Given the description of an element on the screen output the (x, y) to click on. 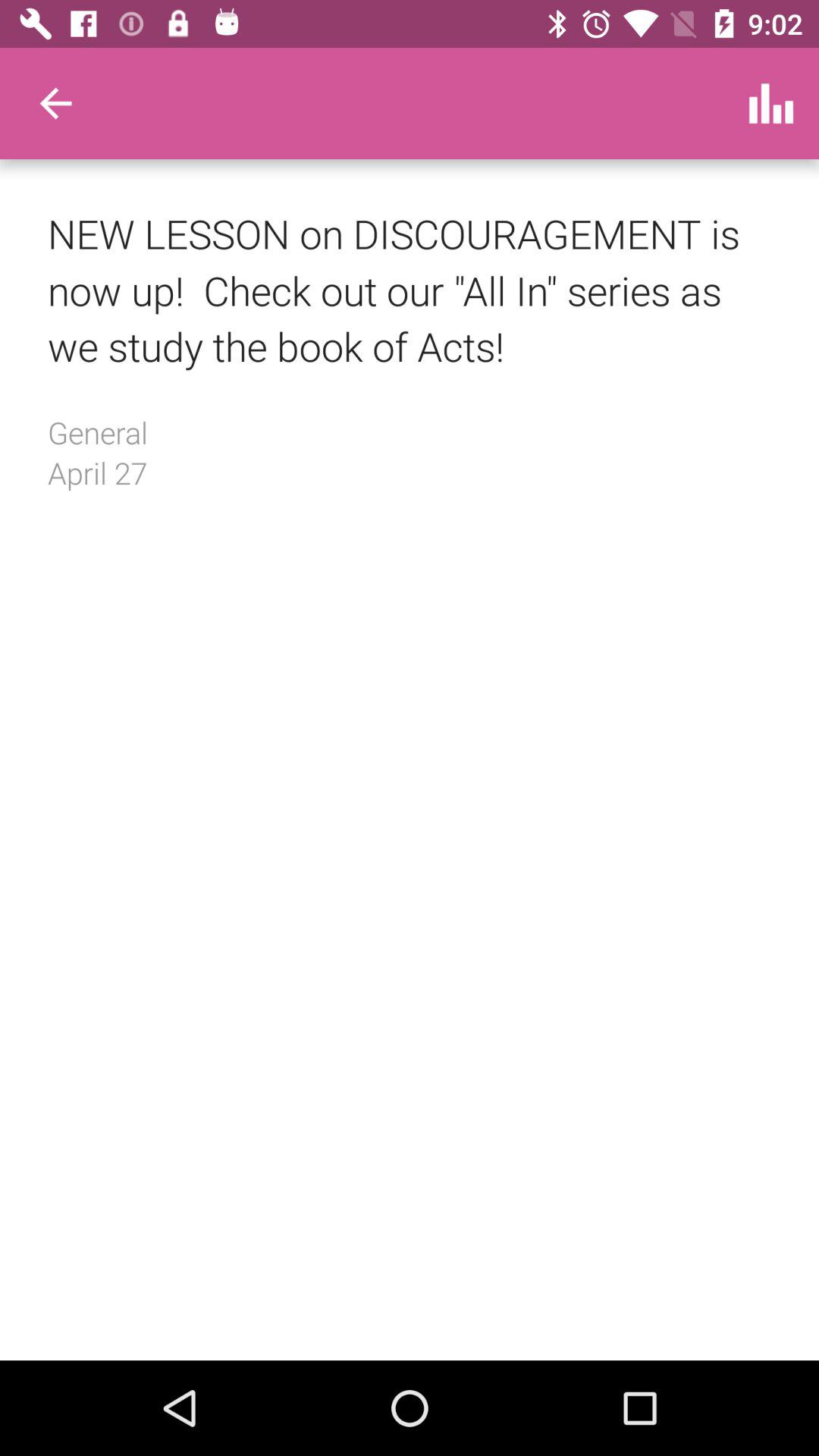
open icon at the top left corner (55, 103)
